Given the description of an element on the screen output the (x, y) to click on. 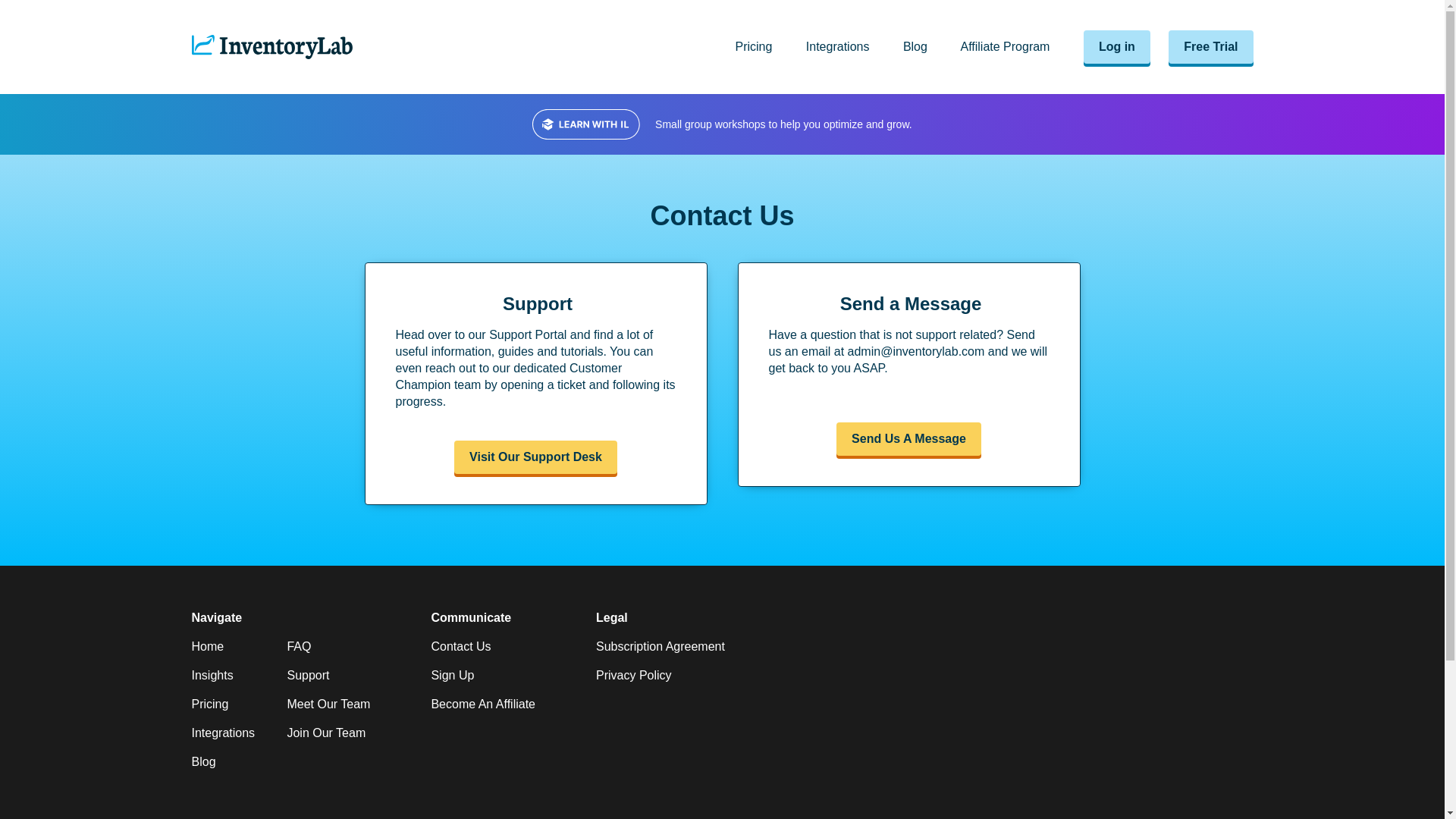
Visit Our Support Desk (536, 457)
Insights (211, 675)
Free Trial (1210, 46)
Blog (202, 762)
Free Trial (1210, 46)
Become An Affiliate (482, 704)
Pricing (209, 704)
Subscription Agreement (660, 646)
Join Our Team (325, 733)
Log in (1116, 46)
